Given the description of an element on the screen output the (x, y) to click on. 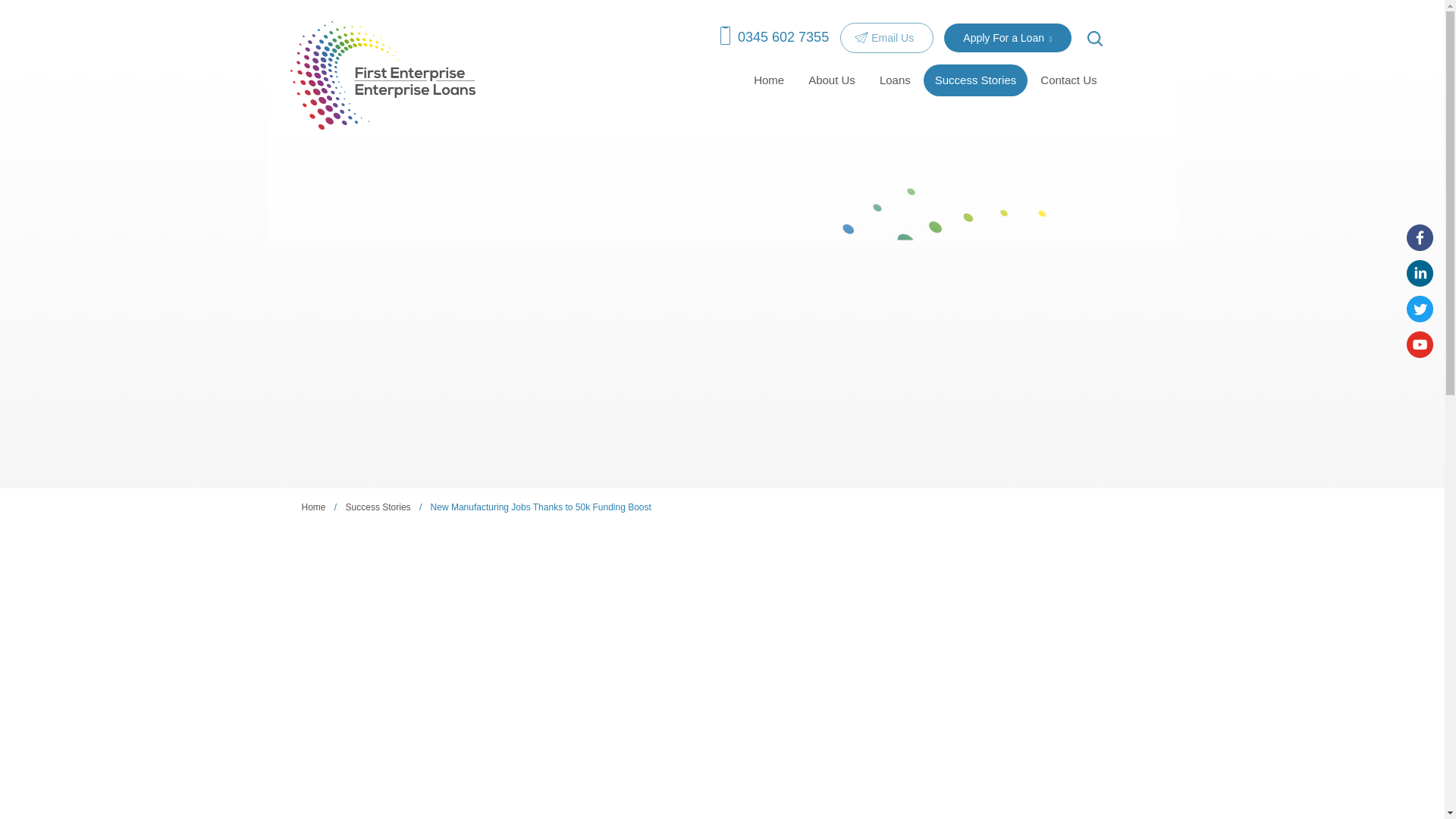
Success Stories (378, 507)
Apply For a Loan (1006, 37)
Home (768, 80)
Success Stories (975, 80)
Home (313, 507)
About Us (831, 80)
Contact Us (1068, 80)
About Us (831, 80)
Home (768, 80)
Success Stories (975, 80)
Loans (894, 80)
Email Us (886, 37)
Contact Us (1068, 80)
0345 602 7355 (774, 36)
Loans (894, 80)
